Given the description of an element on the screen output the (x, y) to click on. 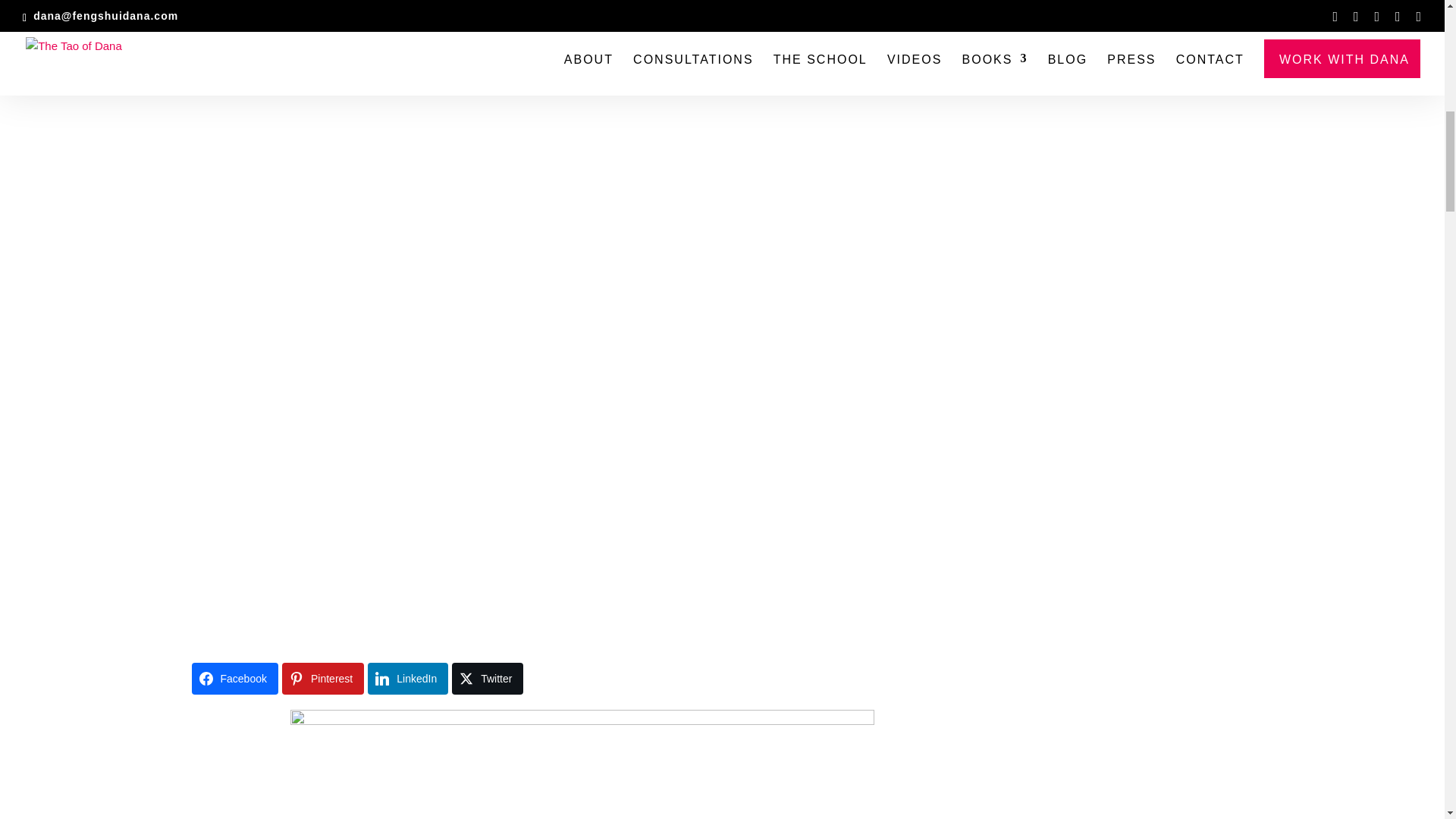
Share on Facebook (234, 678)
Pinterest (323, 678)
Twitter (486, 678)
Share on LinkedIn (408, 678)
Share on Twitter (486, 678)
LinkedIn (408, 678)
Share on Pinterest (323, 678)
Facebook (234, 678)
